Given the description of an element on the screen output the (x, y) to click on. 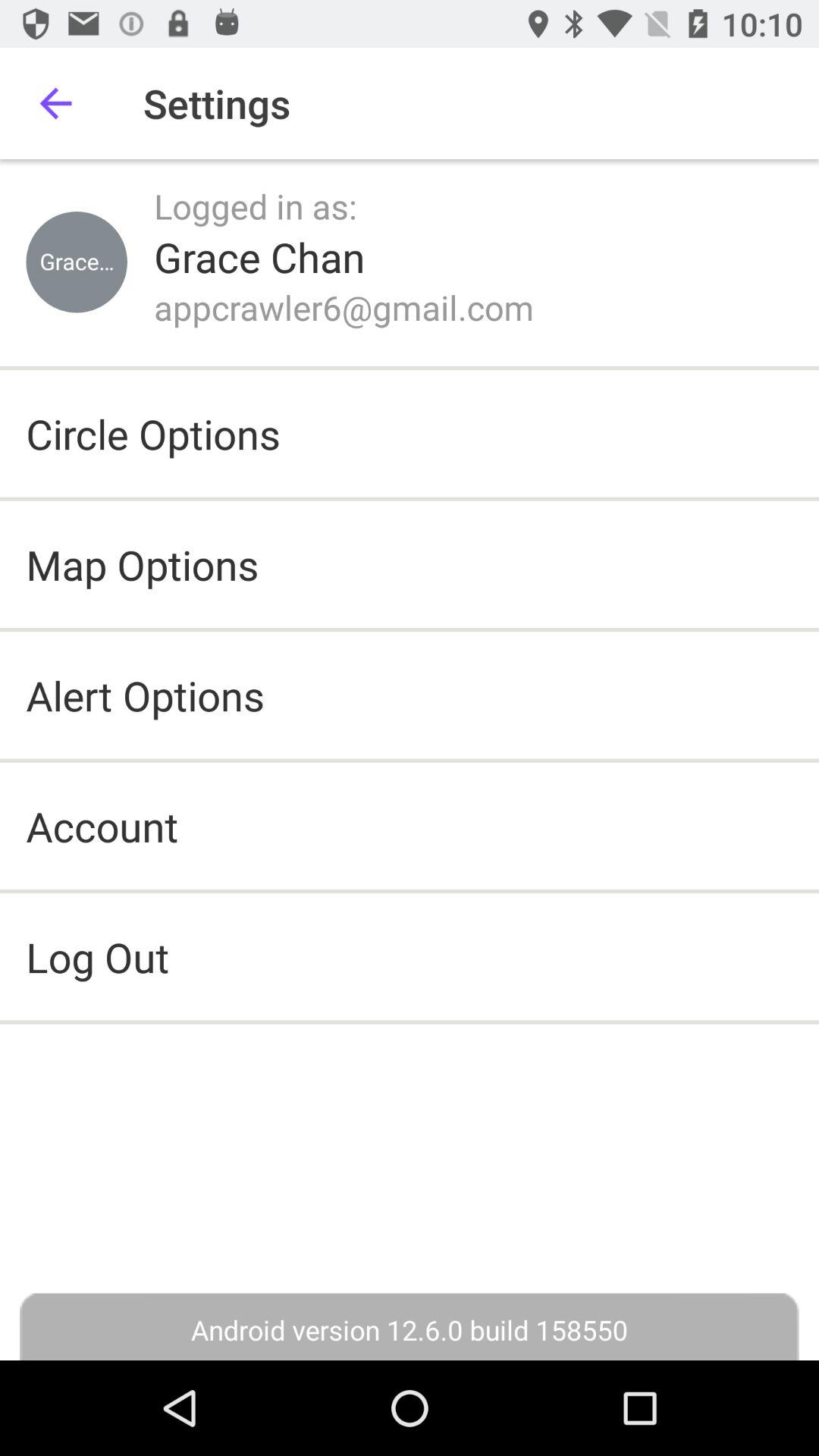
turn off the icon above the map options (153, 433)
